Given the description of an element on the screen output the (x, y) to click on. 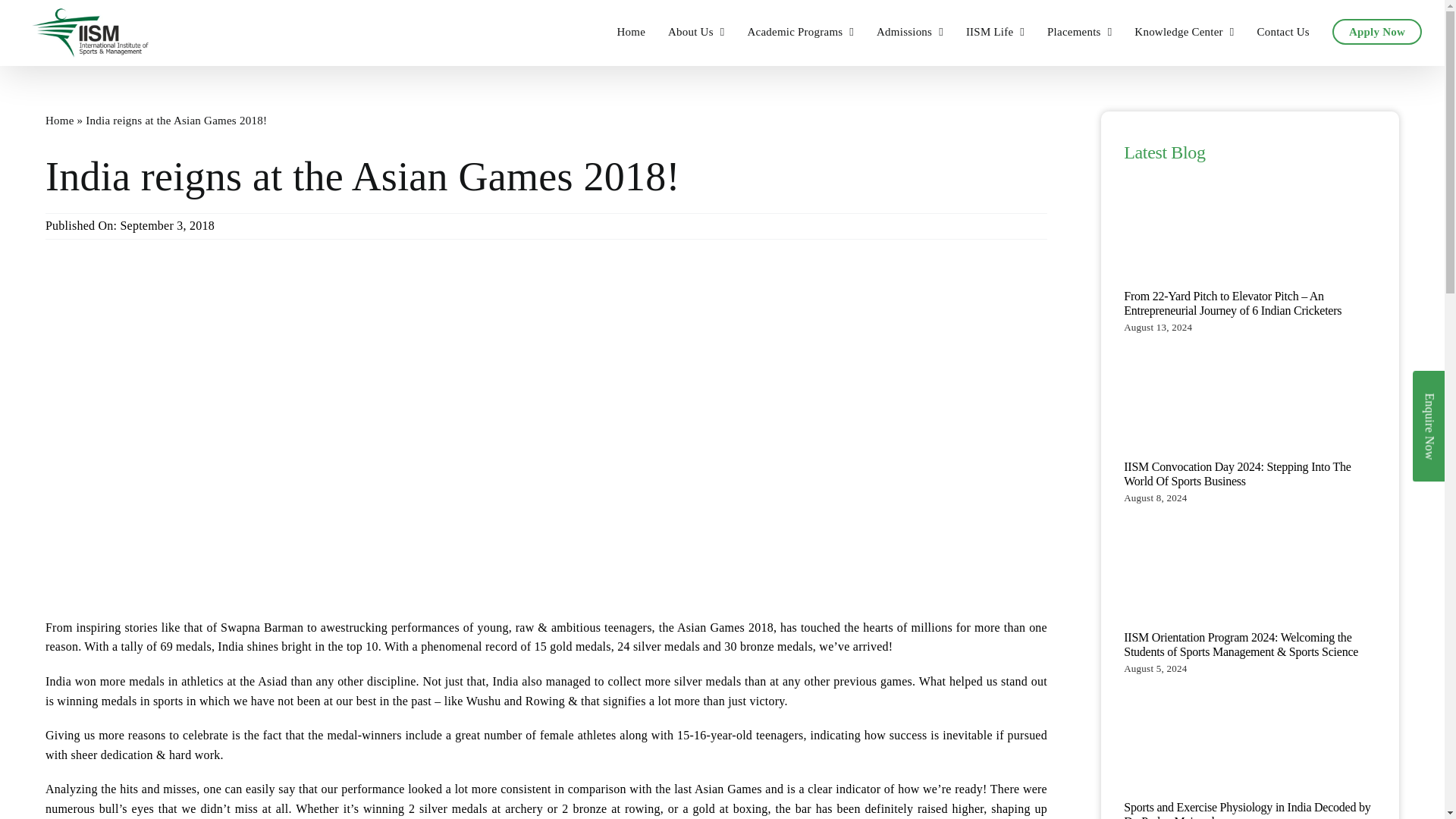
Admissions (909, 31)
Academic Programs (799, 31)
